Given the description of an element on the screen output the (x, y) to click on. 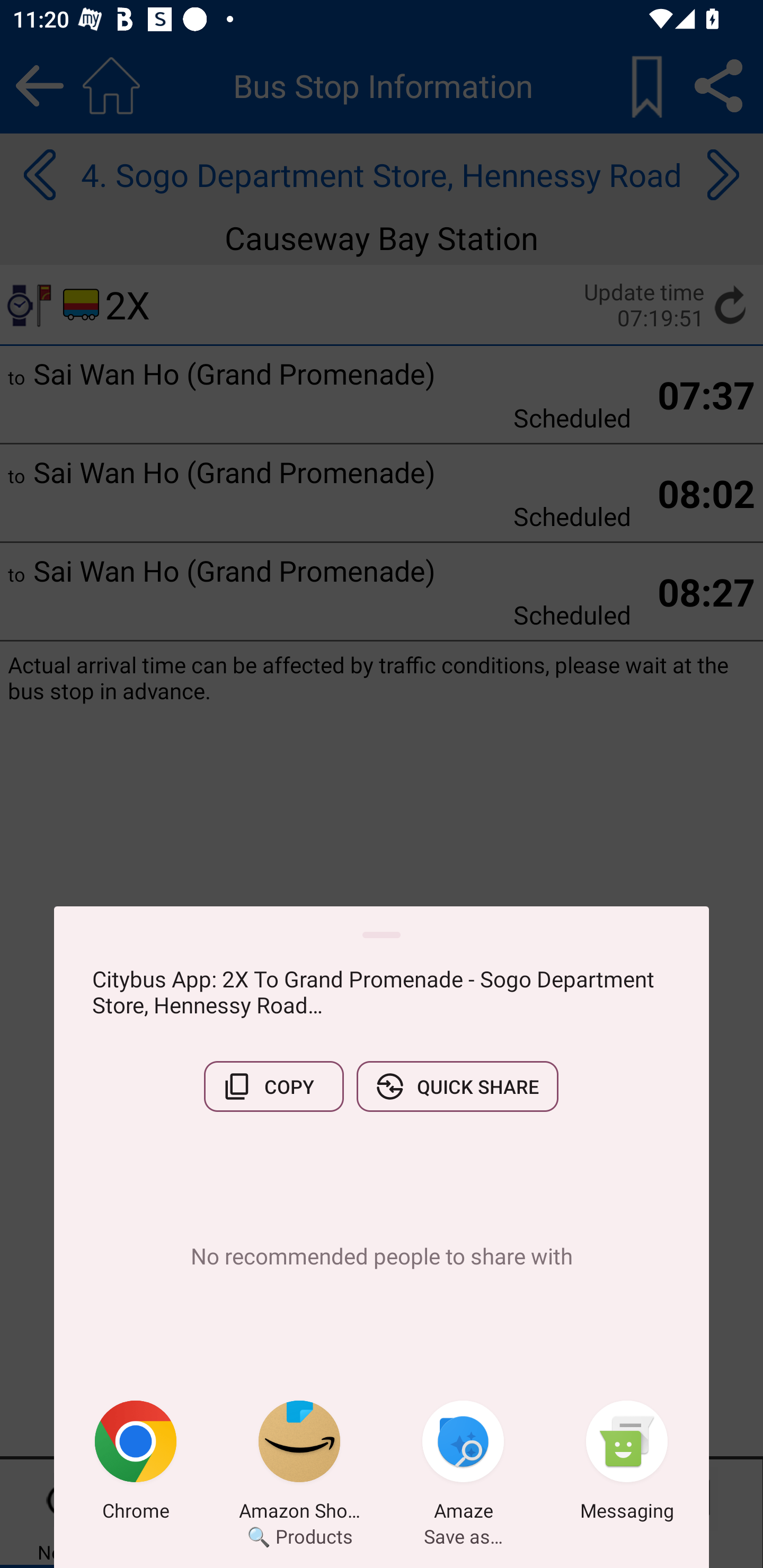
COPY (273, 1086)
QUICK SHARE (457, 1086)
Chrome (135, 1463)
Amazon Shopping 🔍 Products (299, 1463)
Amaze Save as… (463, 1463)
Messaging (626, 1463)
